Given the description of an element on the screen output the (x, y) to click on. 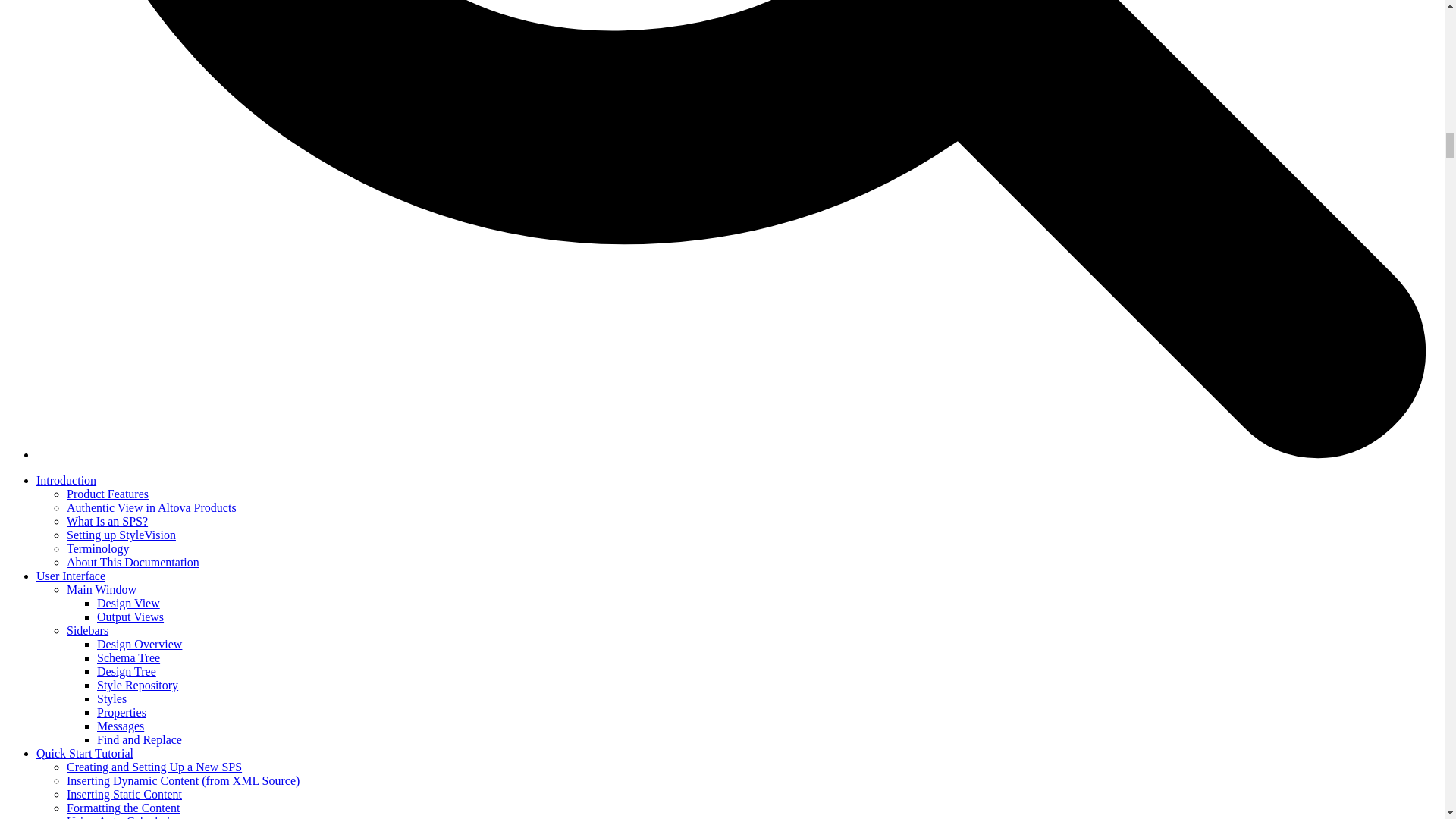
Schema Tree (128, 657)
Sidebars (86, 630)
Terminology (97, 548)
Find and Replace (139, 739)
Design Overview (139, 644)
Properties (122, 712)
Using Auto-Calculations (126, 816)
Inserting Static Content (124, 793)
About This Documentation (132, 562)
Design Tree (126, 671)
